Given the description of an element on the screen output the (x, y) to click on. 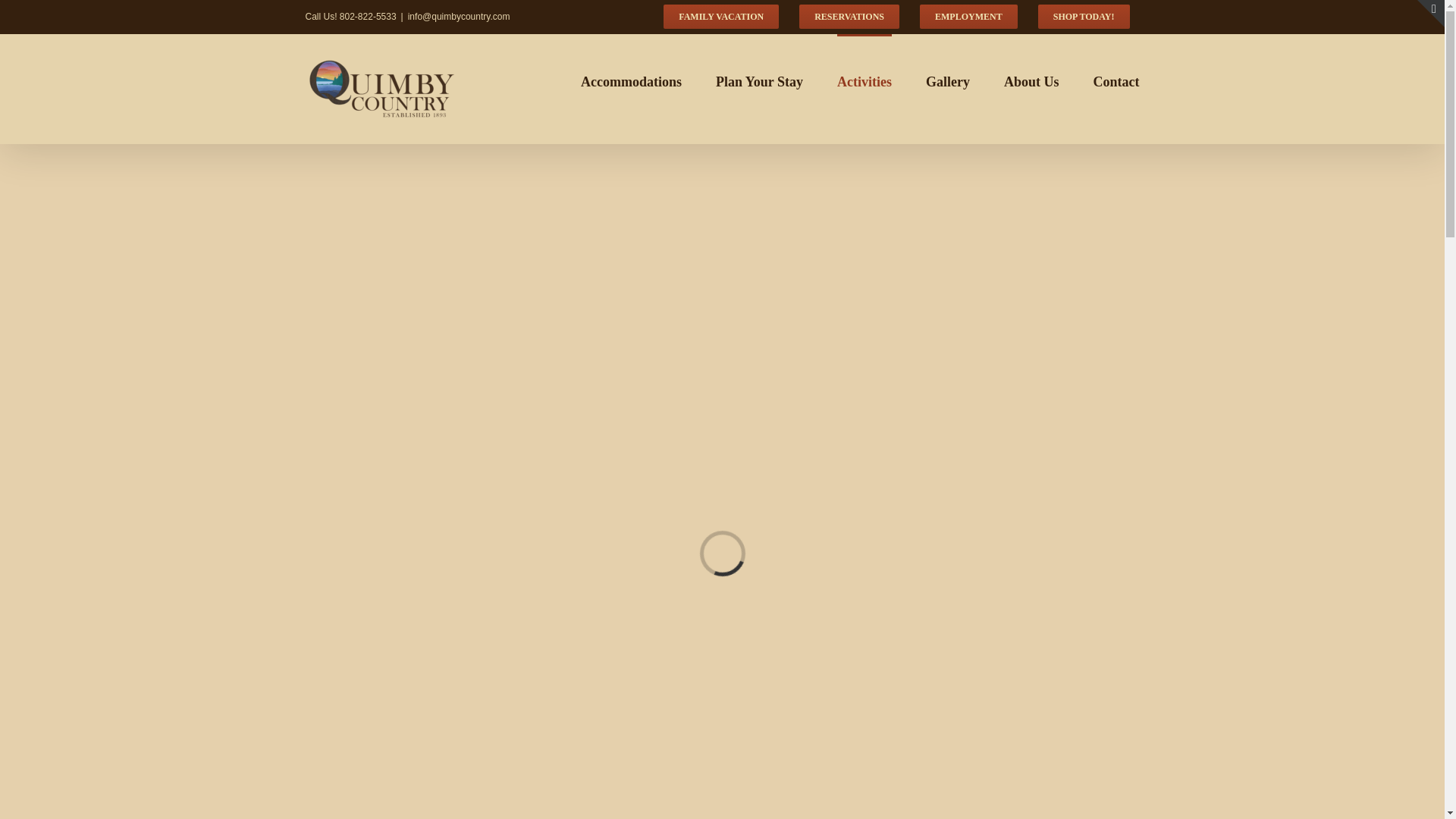
SHOP TODAY! (1083, 16)
Plan Your Stay (759, 80)
RESERVATIONS (848, 16)
FAMILY VACATION (721, 16)
EMPLOYMENT (968, 16)
Accommodations (630, 80)
